Given the description of an element on the screen output the (x, y) to click on. 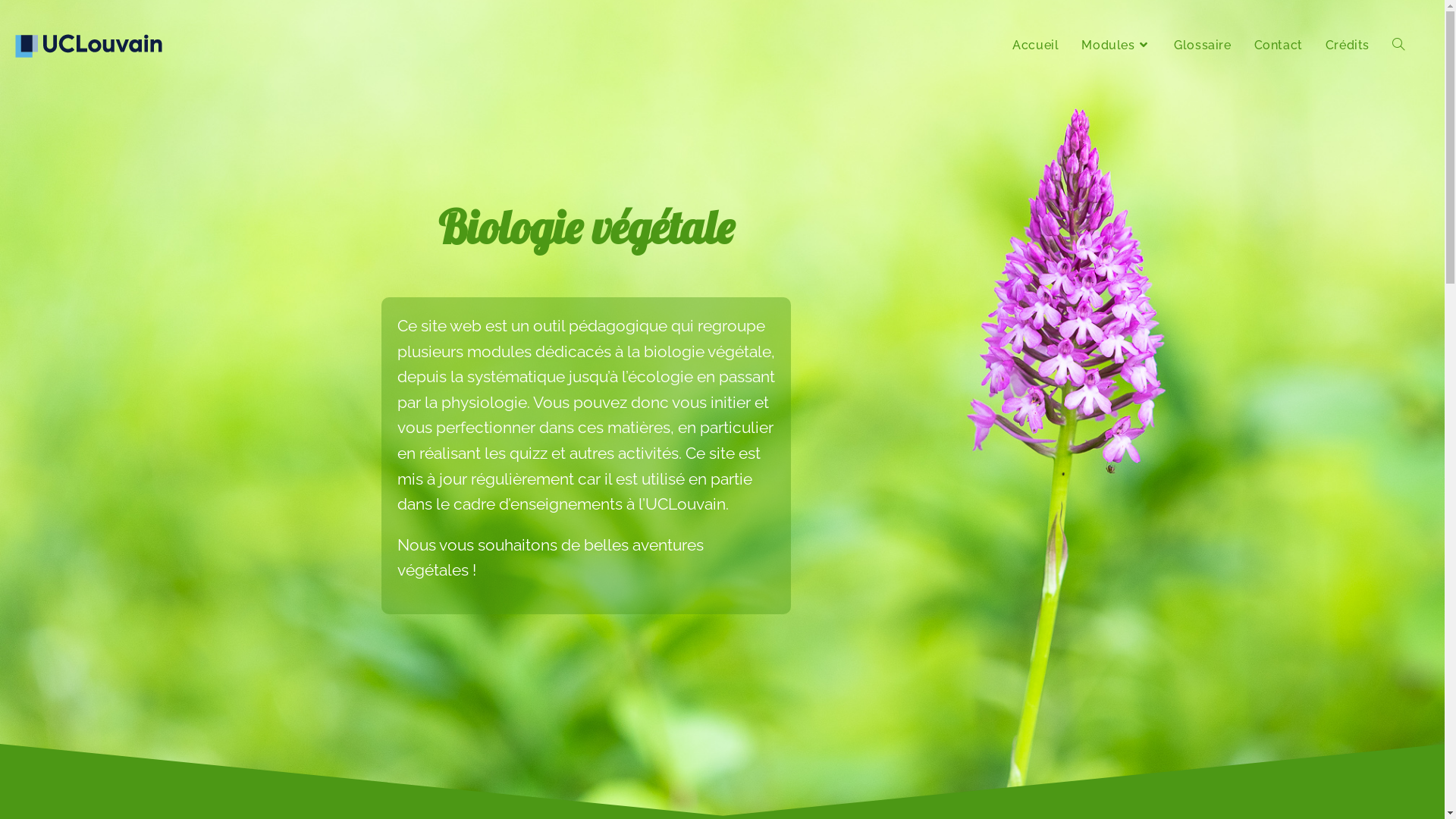
Modules Element type: text (1116, 45)
Contact Element type: text (1278, 45)
Accueil Element type: text (1035, 45)
Glossaire Element type: text (1202, 45)
